Given the description of an element on the screen output the (x, y) to click on. 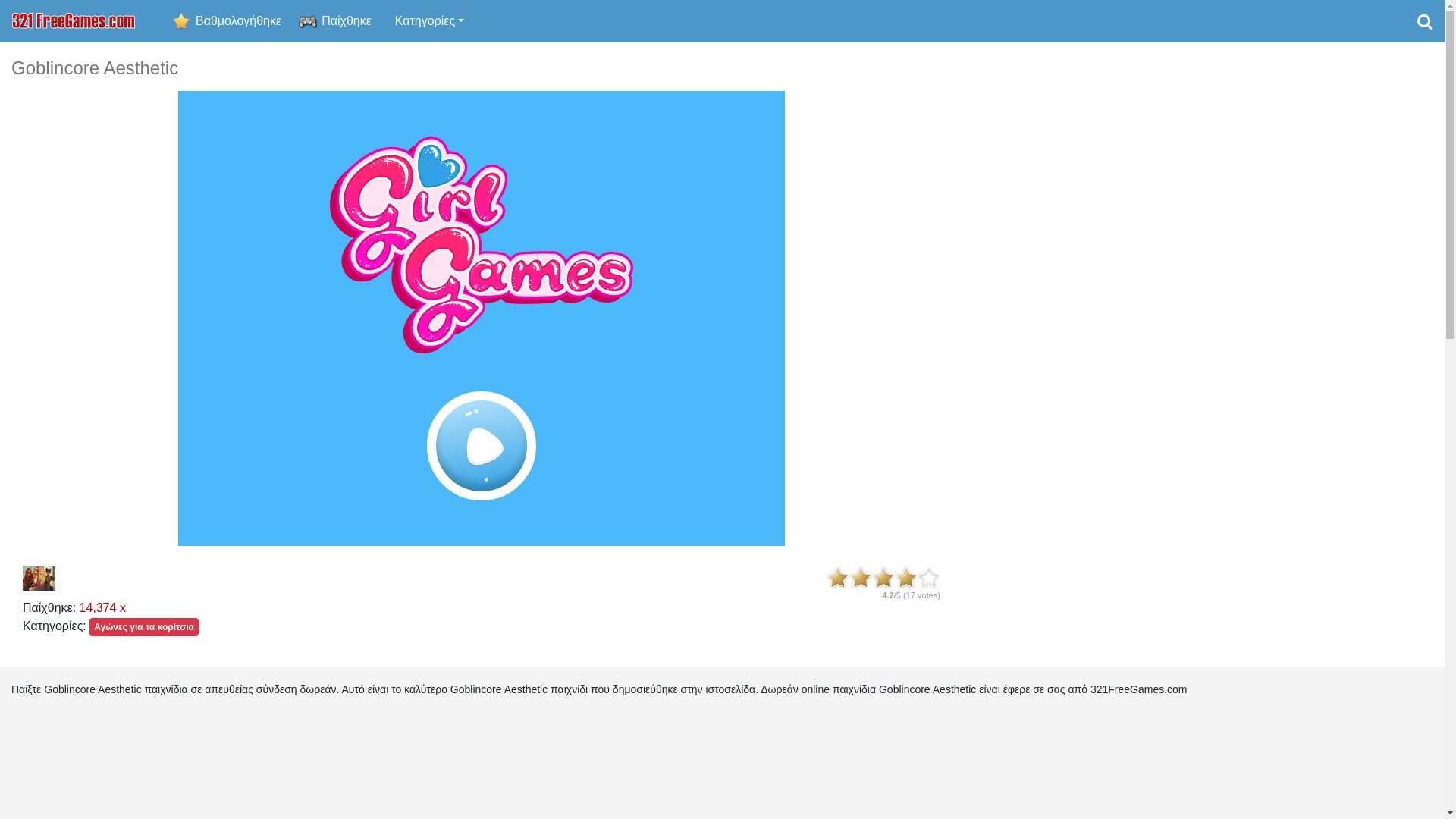
3 Element type: text (883, 577)
4 Element type: text (905, 577)
1 Element type: text (837, 577)
5 Element type: text (928, 577)
2 Element type: text (860, 577)
Advertisement Element type: hover (1203, 284)
